Given the description of an element on the screen output the (x, y) to click on. 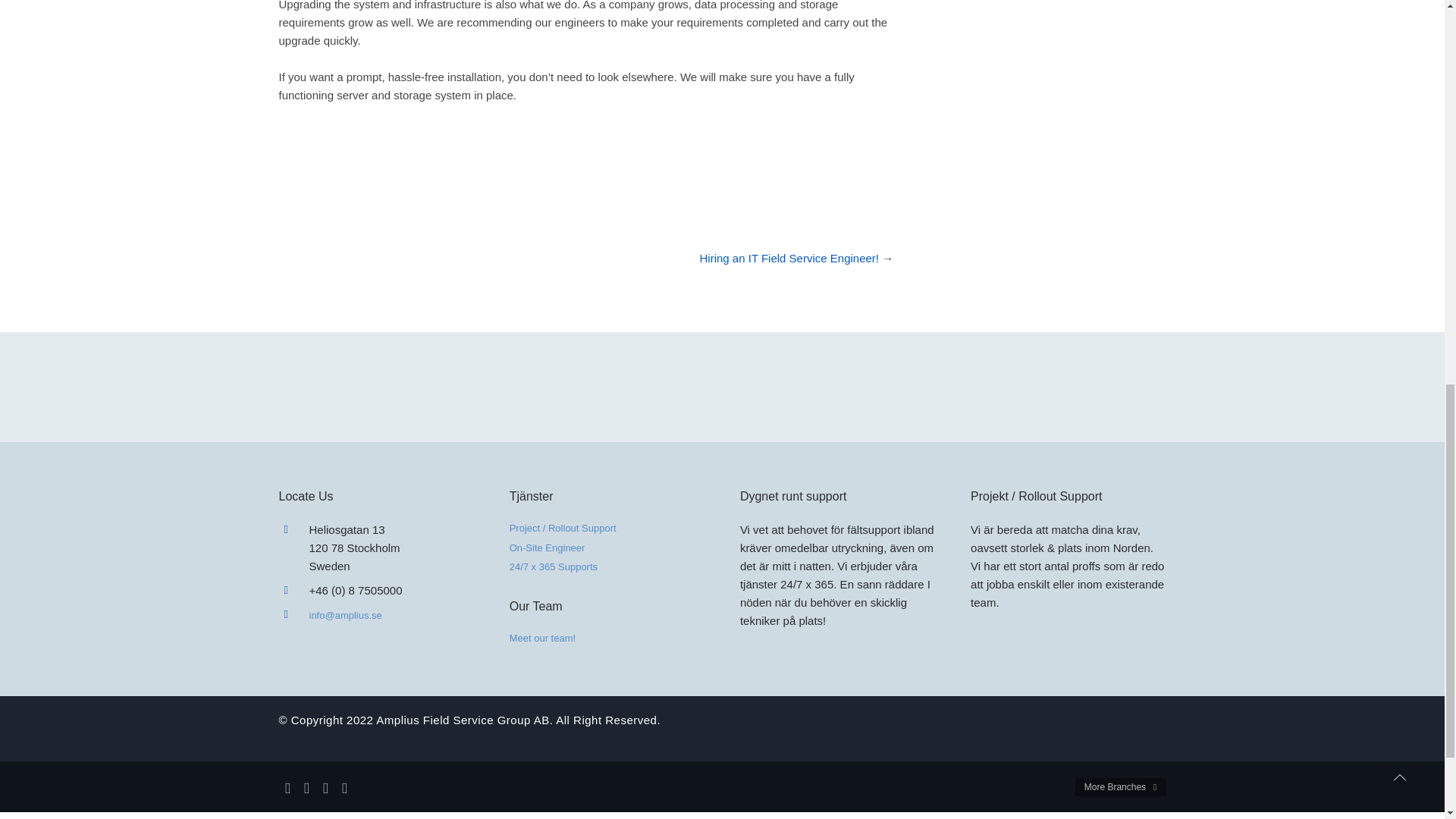
Hiring an IT Field Service Engineer! (789, 257)
